Given the description of an element on the screen output the (x, y) to click on. 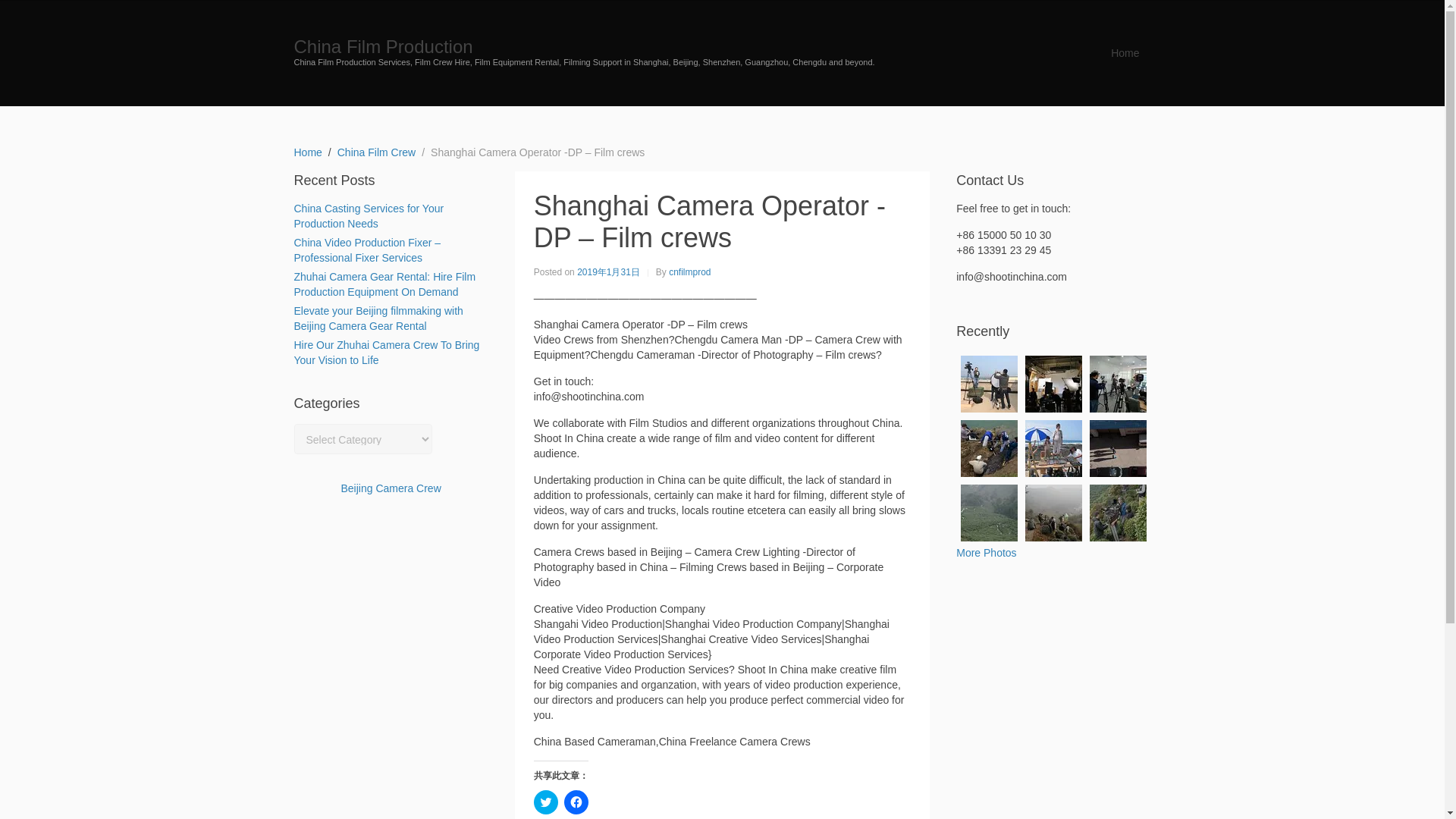
Home (1124, 52)
Click to share on Twitter (545, 802)
Qingdao Filming Interviews in Jutao (988, 383)
Kids Walking Alley (1118, 448)
China Casting Services for Your Production Needs (369, 216)
cnfilmprod (689, 272)
Beijing Camera Crew (390, 488)
YSL Studio Shoot Shanghai (1053, 383)
Click to share on Facebook (576, 802)
Home (307, 151)
More Photos (986, 552)
Hire Our Zhuhai Camera Crew To Bring Your Vision to Life (387, 352)
China Film Crew (375, 151)
